Given the description of an element on the screen output the (x, y) to click on. 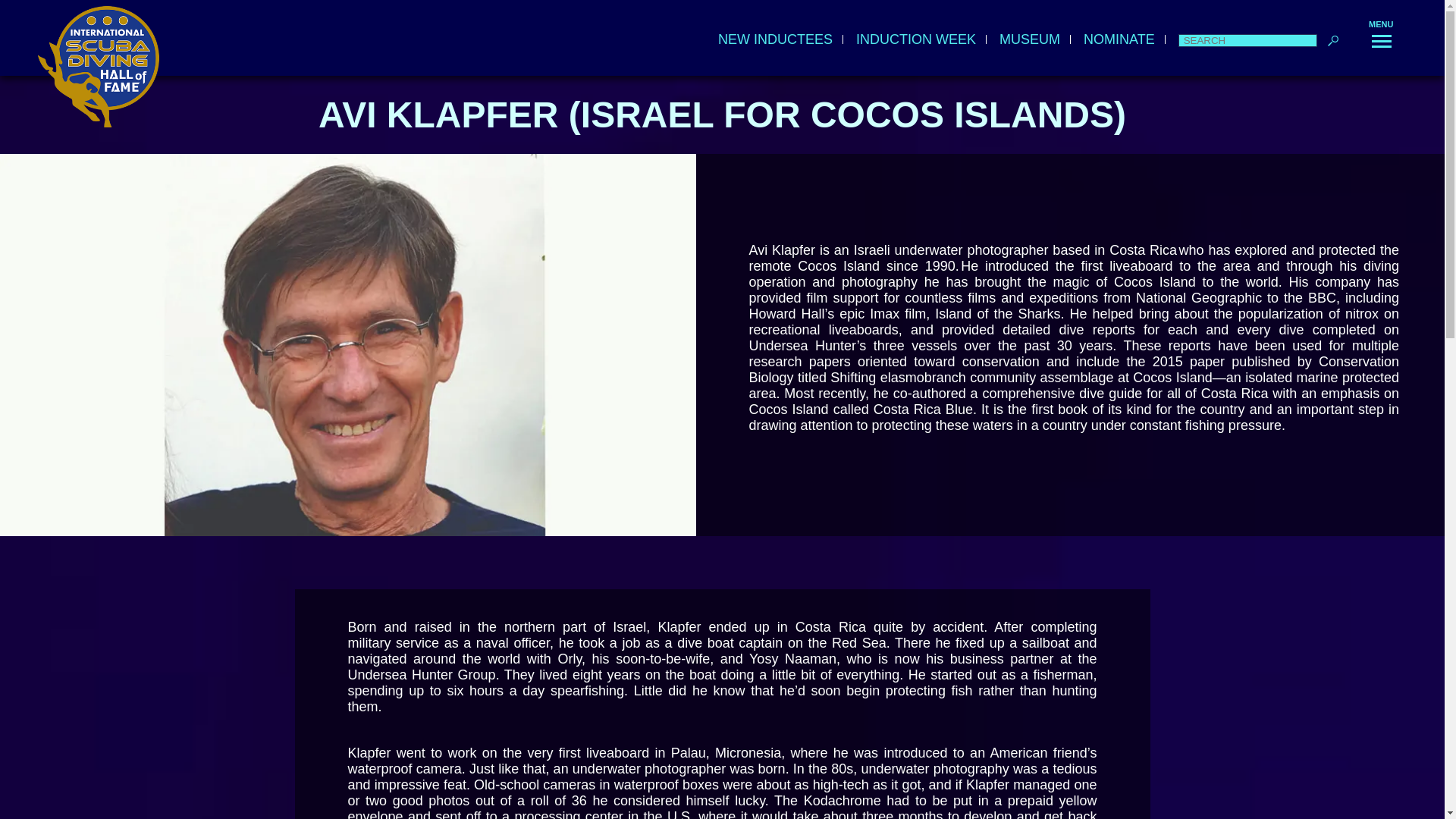
MUSEUM (1030, 38)
NOMINATE (1120, 38)
NEW INDUCTEES (776, 38)
INDUCTION WEEK (917, 38)
